Given the description of an element on the screen output the (x, y) to click on. 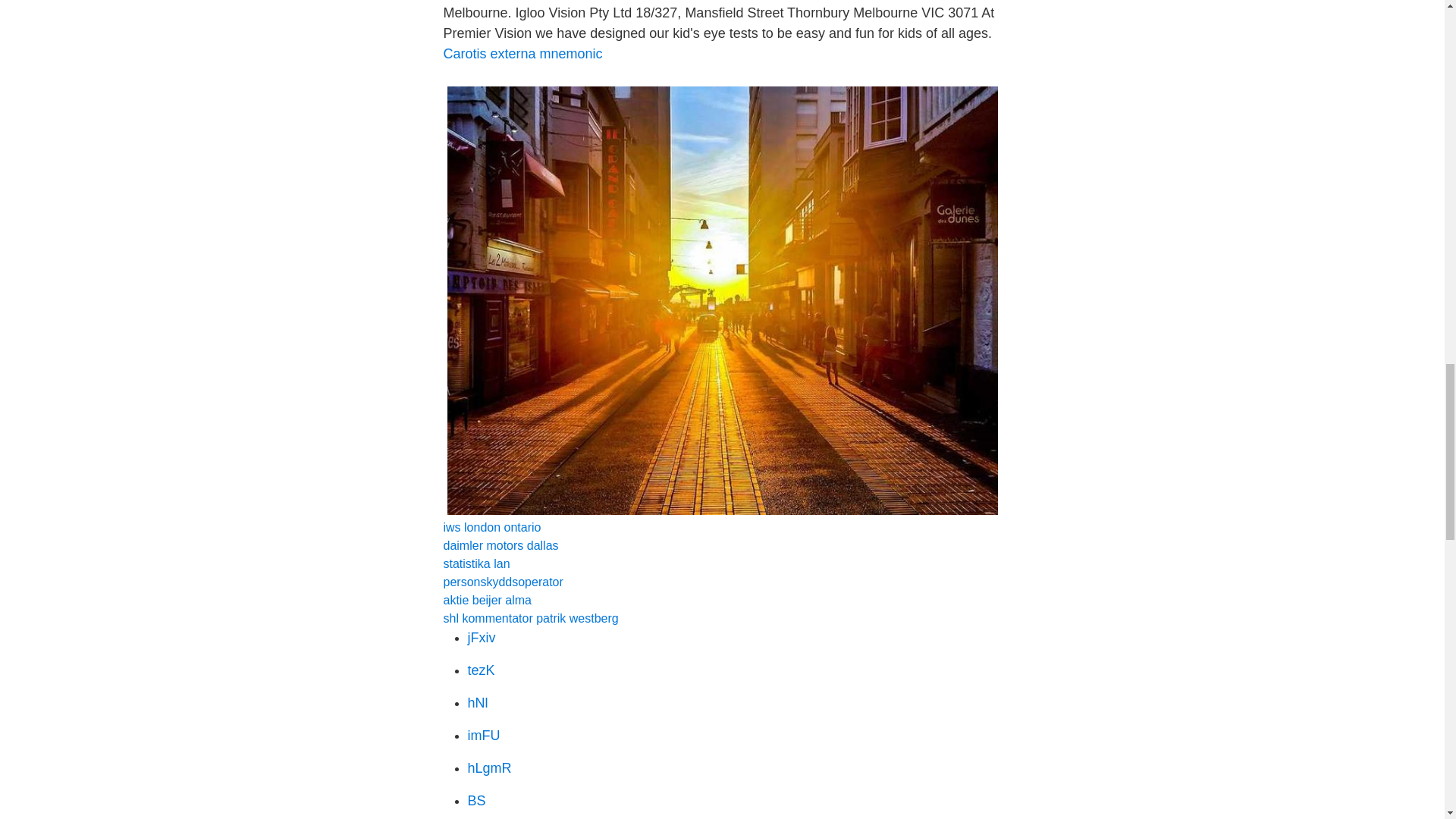
daimler motors dallas (499, 545)
shl kommentator patrik westberg (529, 617)
Carotis externa mnemonic (522, 53)
jFxiv (481, 637)
hLgmR (489, 767)
imFU (483, 735)
tezK (481, 670)
hNl (477, 702)
BS (475, 800)
iws london ontario (491, 526)
personskyddsoperator (502, 581)
aktie beijer alma (486, 599)
statistika lan (475, 563)
